Given the description of an element on the screen output the (x, y) to click on. 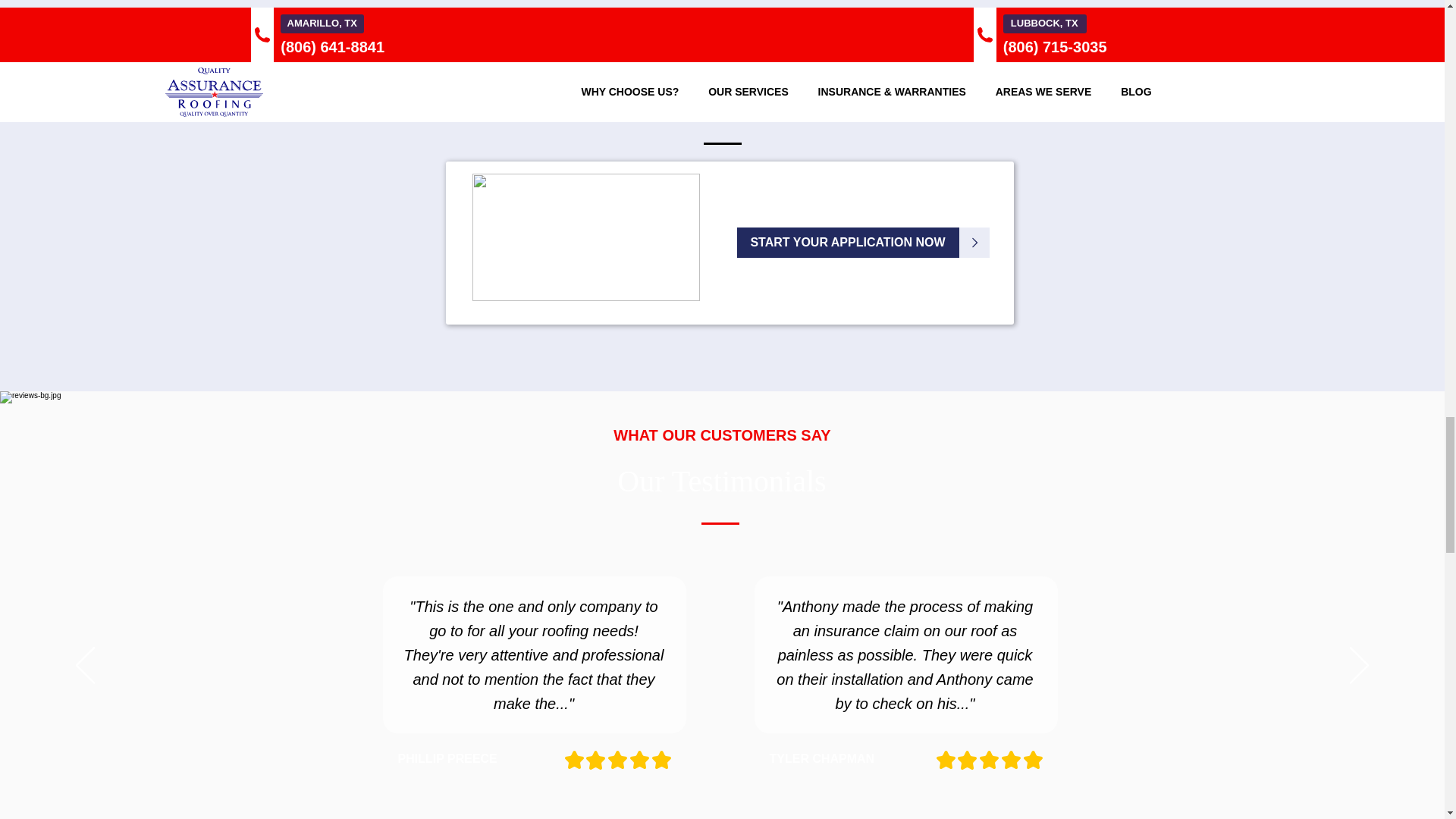
START YOUR APPLICATION NOW (847, 242)
